Given the description of an element on the screen output the (x, y) to click on. 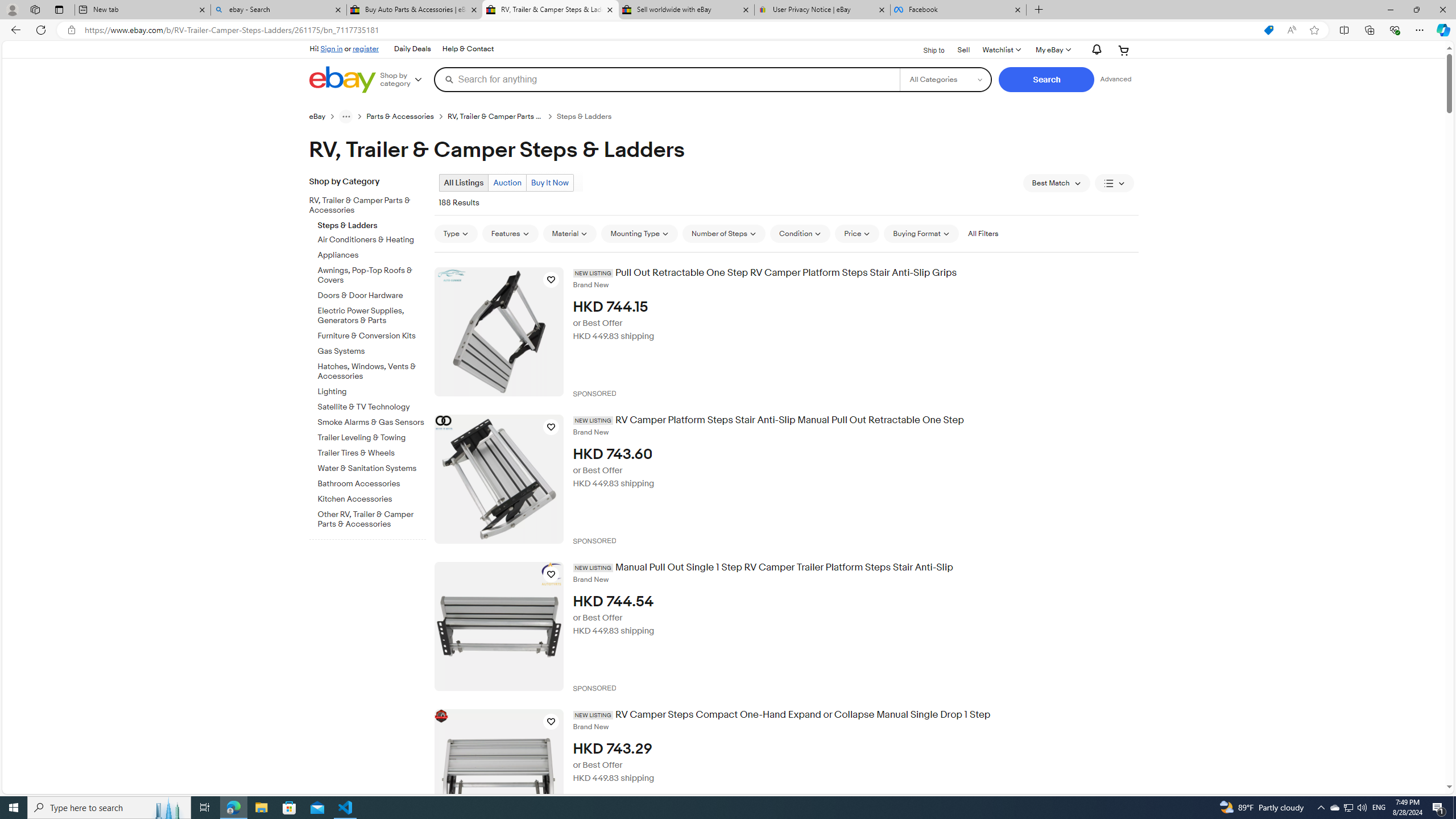
Daily Deals (412, 49)
Hatches, Windows, Vents & Accessories (371, 371)
Auction (507, 182)
Water & Sanitation Systems (371, 466)
Close tab (1017, 9)
Sell (963, 49)
Number of Steps (723, 233)
Restore (1416, 9)
All Filters (982, 233)
Shop by category (405, 79)
Bathroom Accessories (371, 481)
Help & Contact (467, 49)
Settings and more (Alt+F) (1419, 29)
Expand Cart (1123, 49)
All Listings (463, 182)
